Given the description of an element on the screen output the (x, y) to click on. 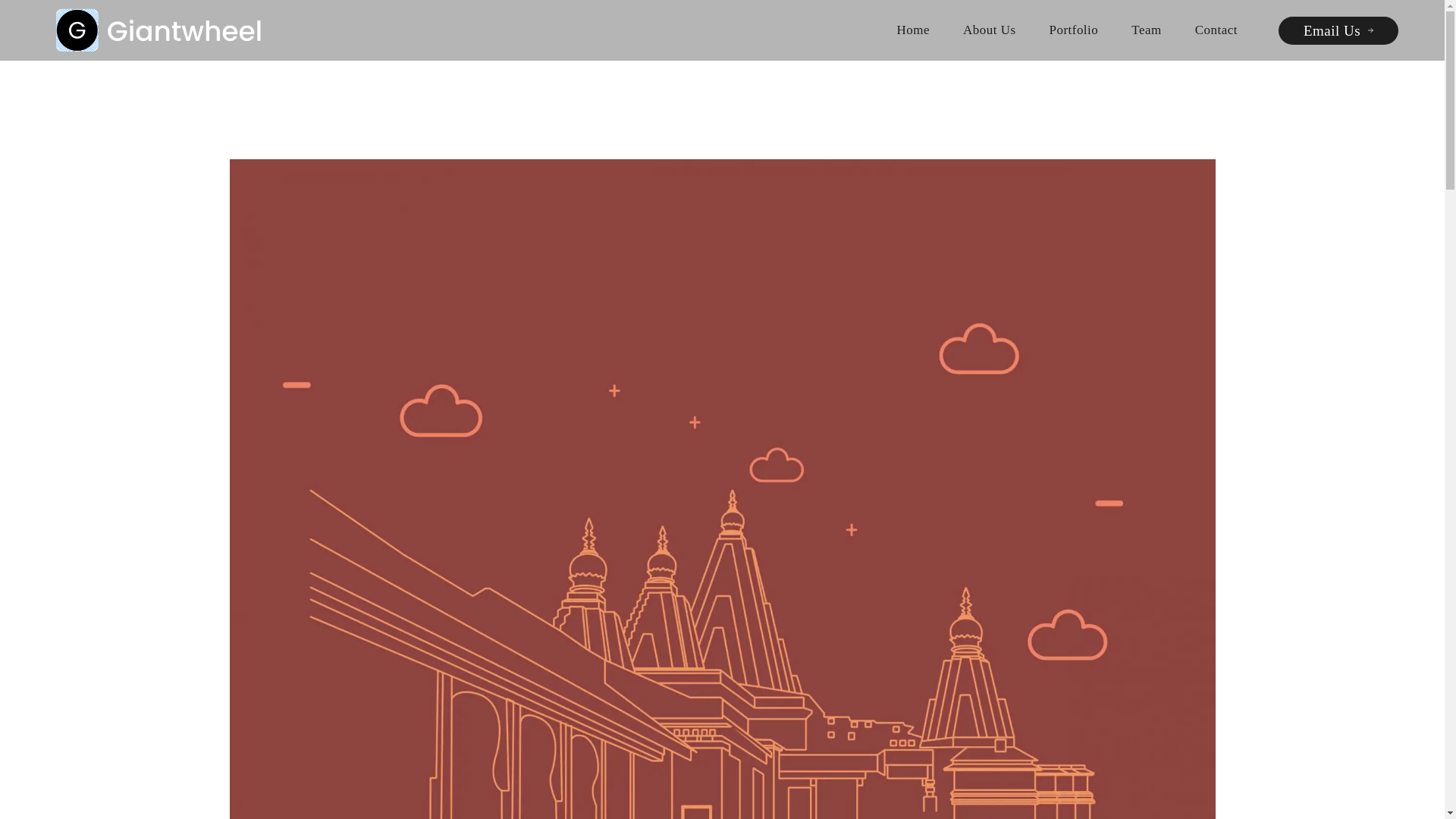
Email Us (1337, 30)
Portfolio (1073, 30)
About Us (989, 30)
Contact (1216, 30)
